Given the description of an element on the screen output the (x, y) to click on. 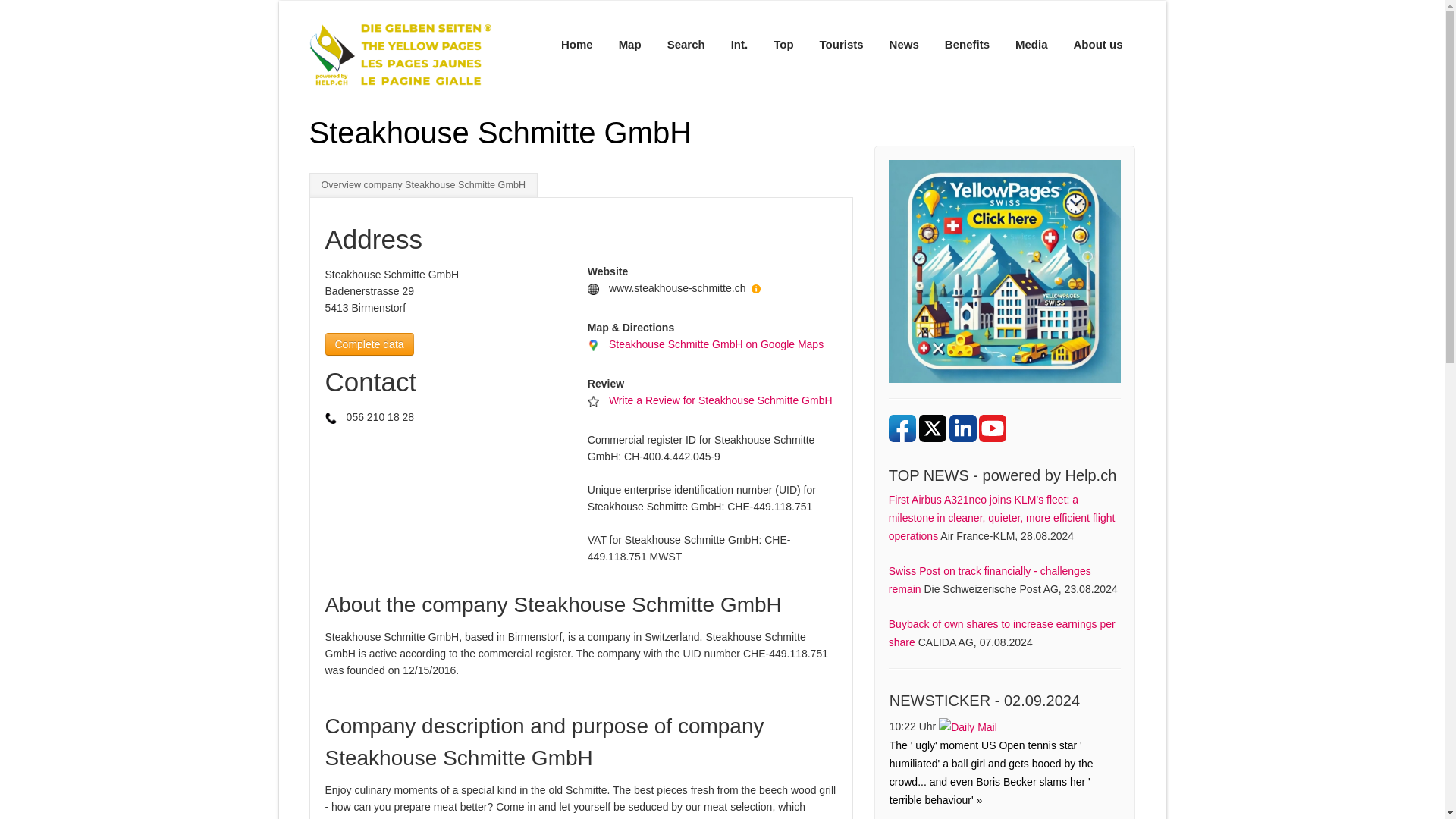
Swiss Post on track financially - challenges remain (989, 580)
Benefits (967, 44)
Buyback of own shares to increase earnings per share (1001, 633)
Map (629, 44)
About us (1097, 44)
Top Swiss Companies (1004, 271)
News (903, 44)
Top (783, 44)
See us on Facebook (901, 427)
